Given the description of an element on the screen output the (x, y) to click on. 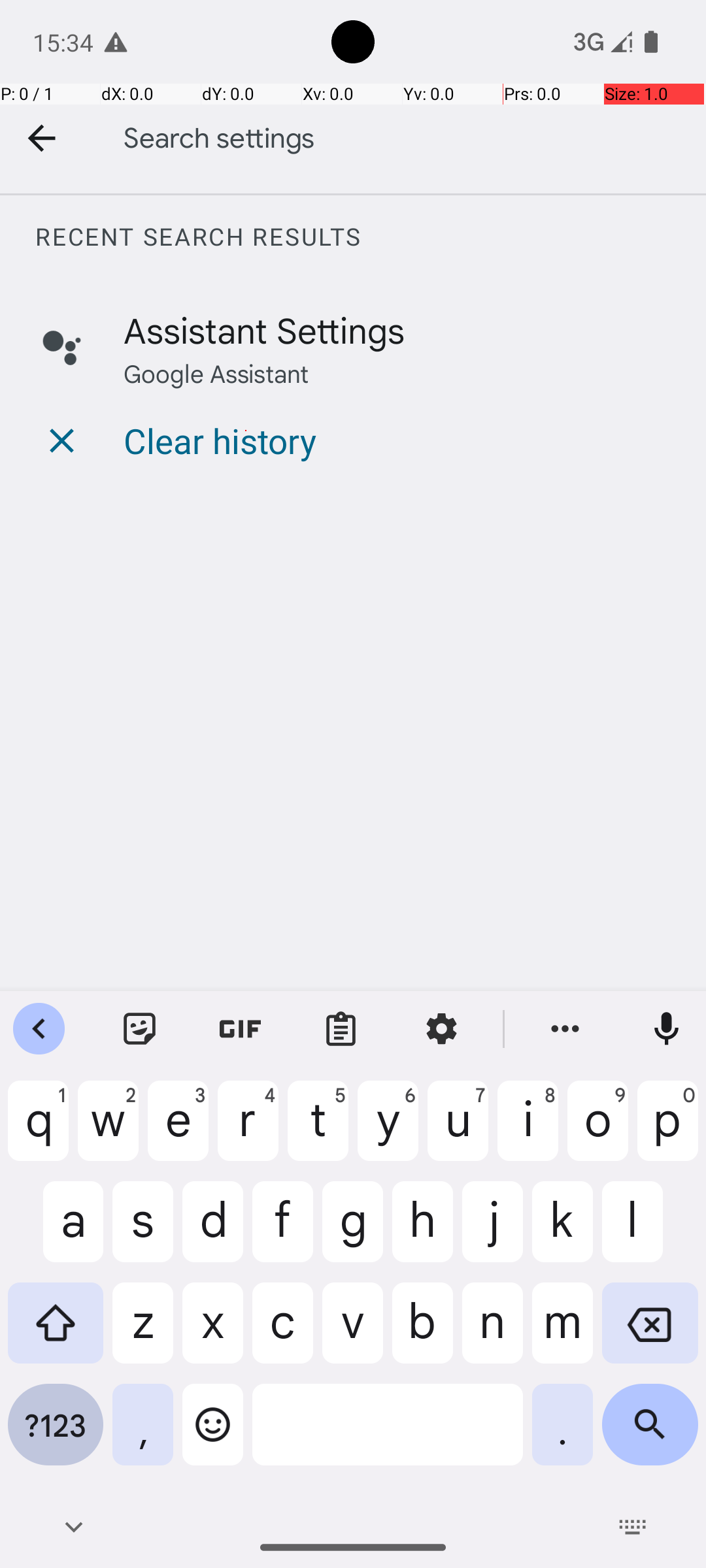
RECENT SEARCH RESULTS Element type: android.widget.TextView (370, 236)
Assistant Settings Element type: android.widget.TextView (263, 329)
Google Assistant Element type: android.widget.TextView (215, 372)
Clear history Element type: android.widget.TextView (219, 440)
